Given the description of an element on the screen output the (x, y) to click on. 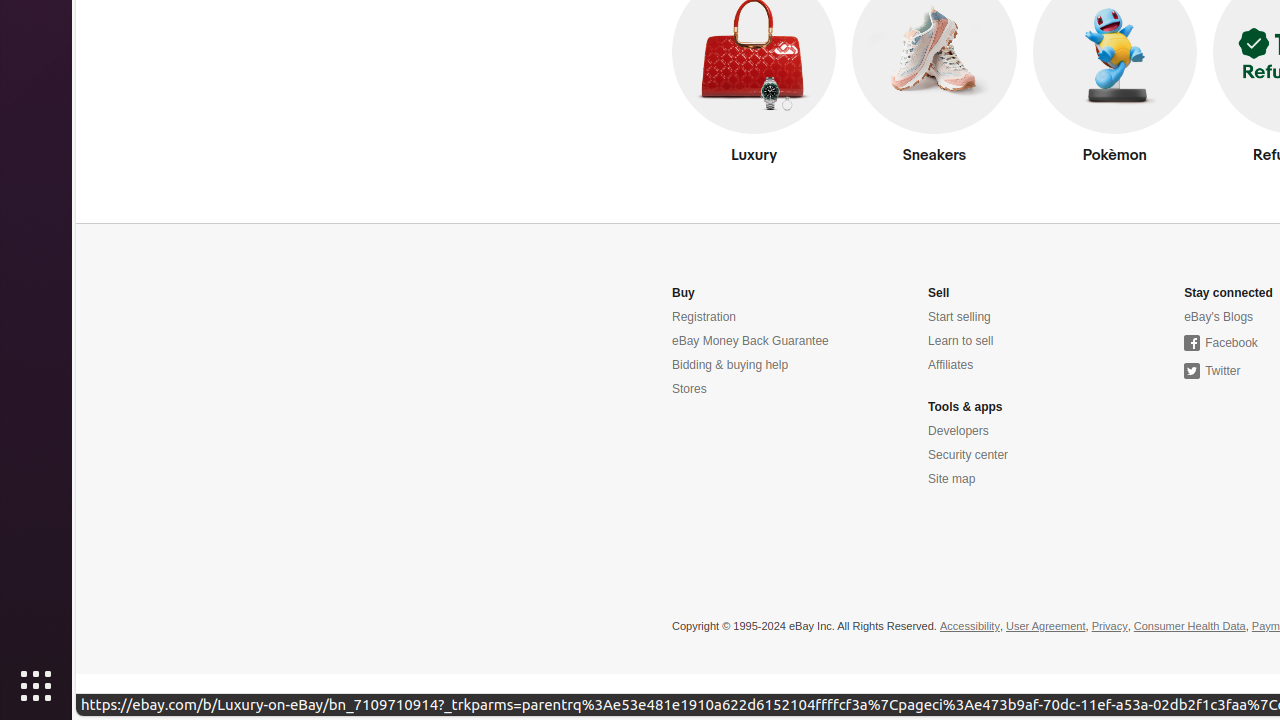
Privacy Element type: link (1109, 627)
Bidding & buying help Element type: link (730, 365)
Registration Element type: link (704, 317)
Start selling Element type: link (959, 317)
